Given the description of an element on the screen output the (x, y) to click on. 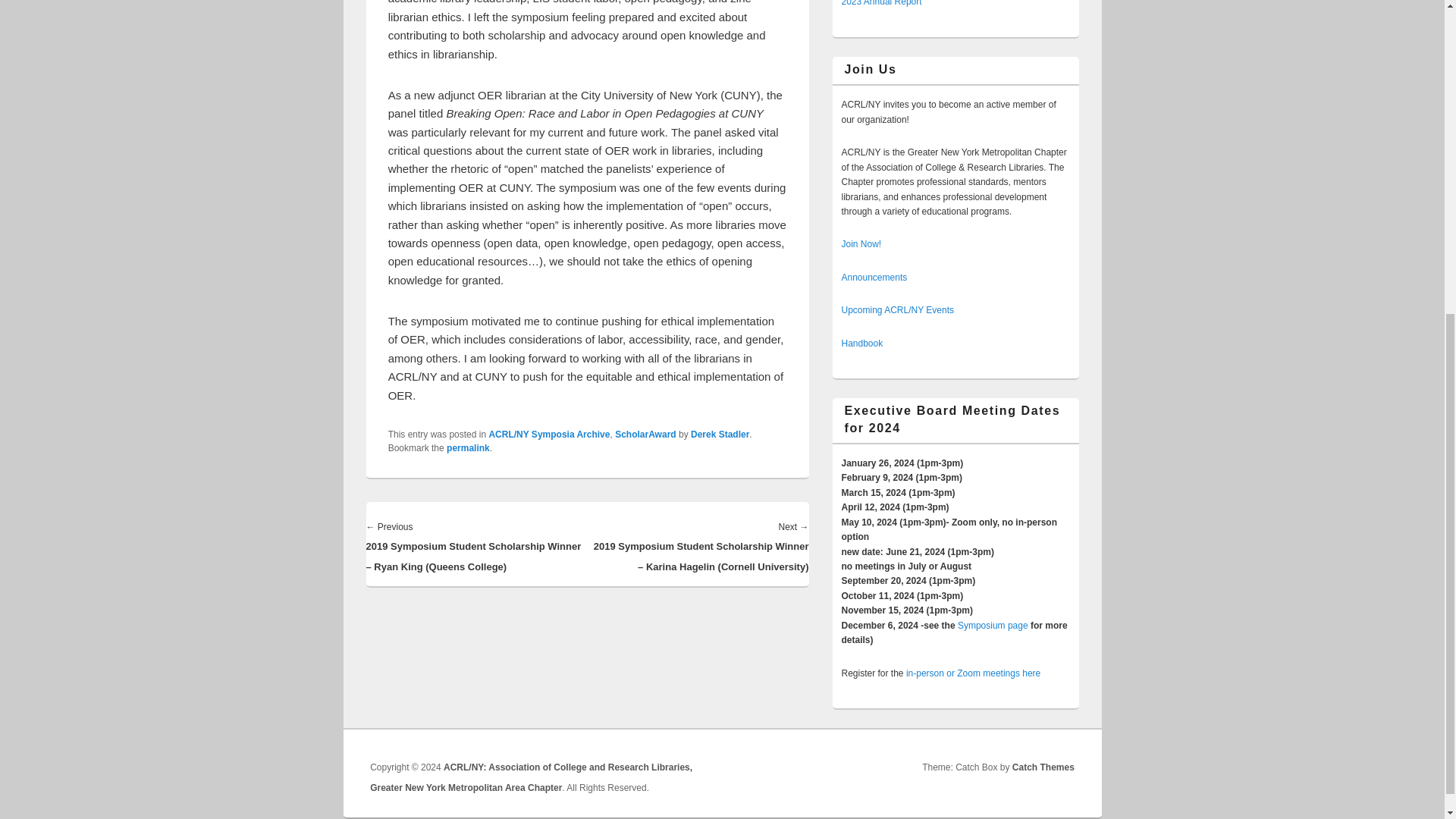
Catch Themes (1042, 767)
